Given the description of an element on the screen output the (x, y) to click on. 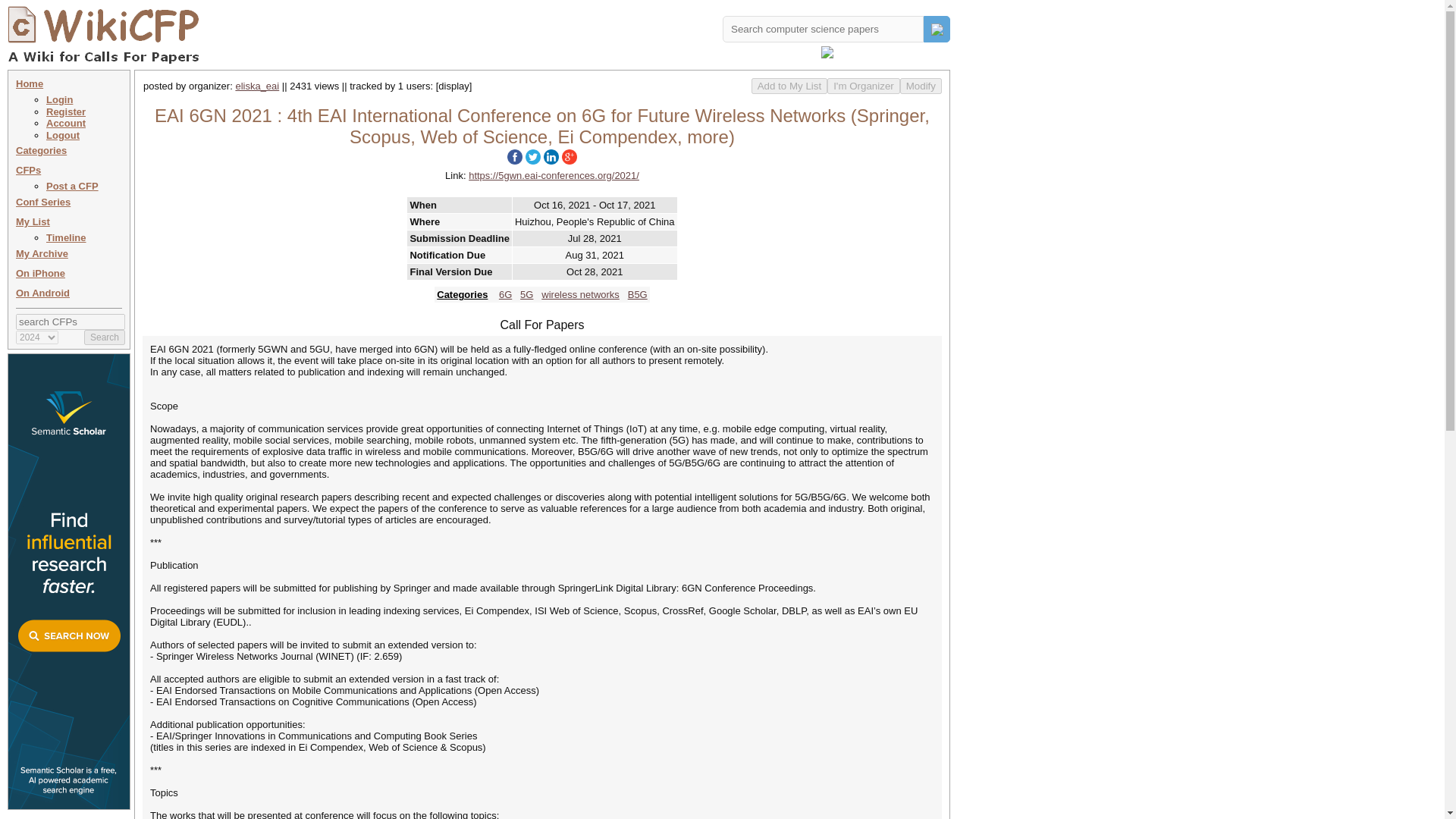
Logout (63, 134)
Categories (41, 150)
Search (104, 337)
Add to My List (789, 85)
wireless networks (580, 294)
Conf Series (42, 202)
Add to My List (789, 85)
Post a CFP (72, 185)
Account (65, 122)
On Android (42, 292)
